Given the description of an element on the screen output the (x, y) to click on. 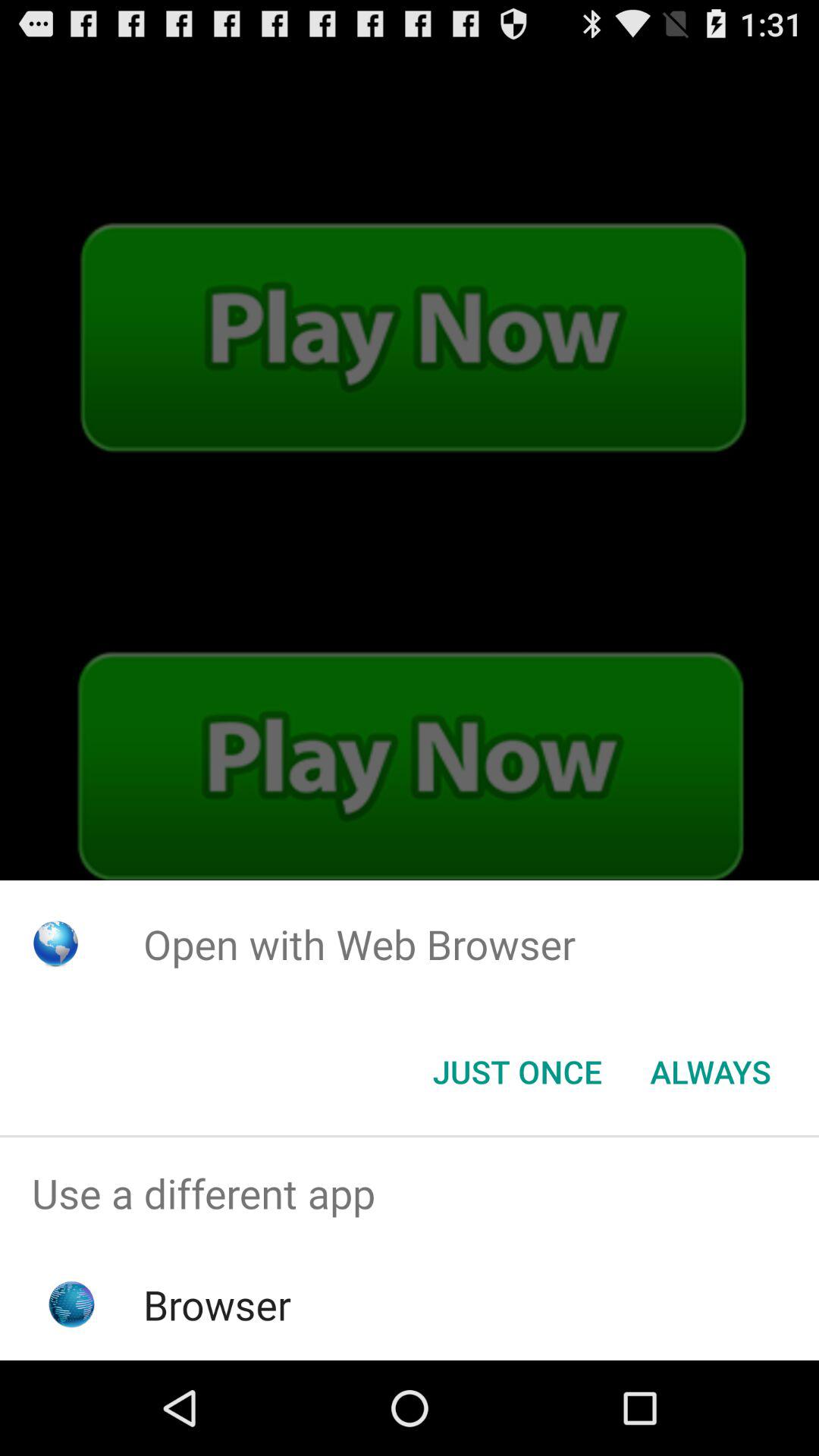
launch item below the open with web (710, 1071)
